Given the description of an element on the screen output the (x, y) to click on. 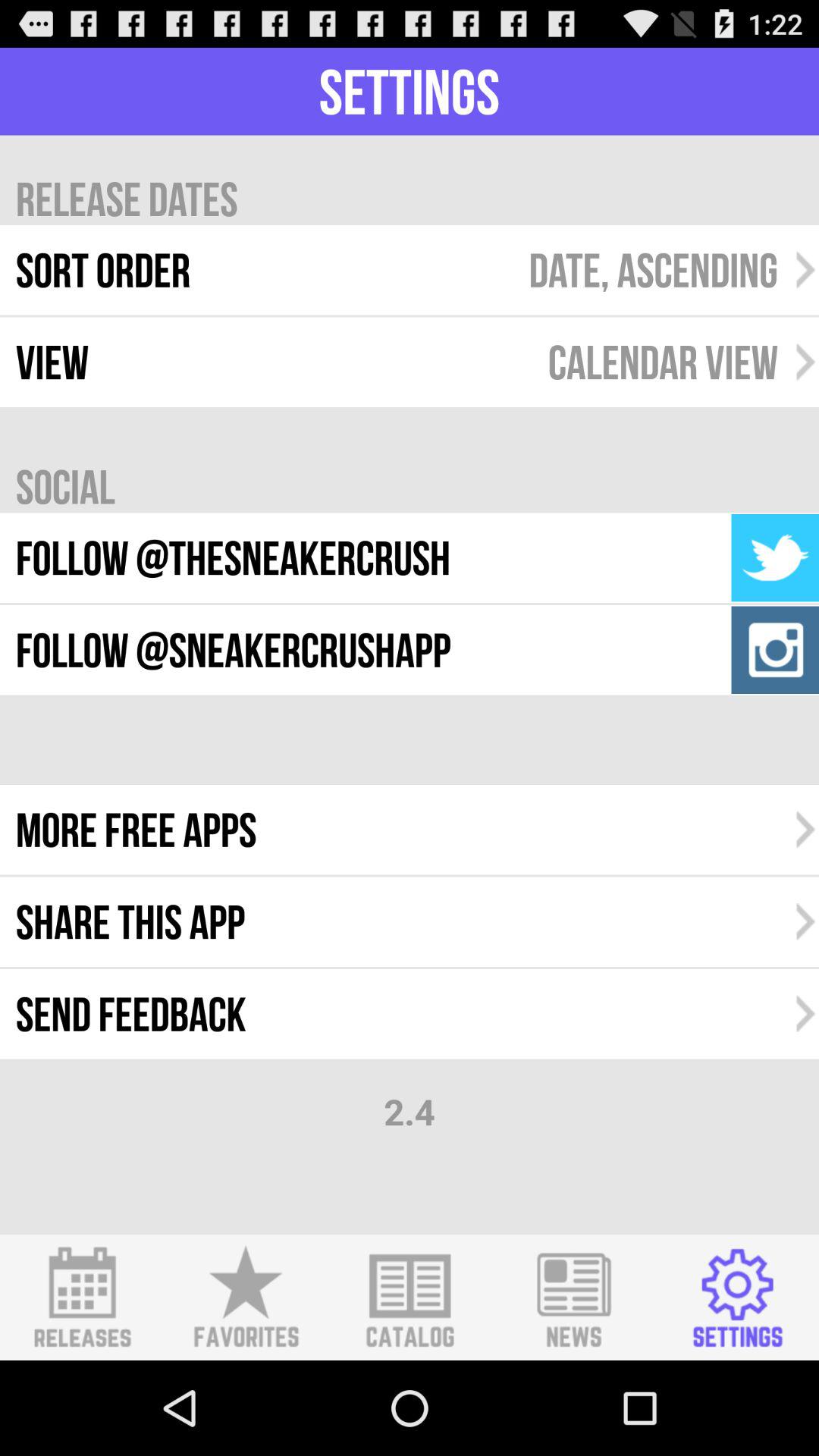
tap the date, ascending icon (653, 269)
